Given the description of an element on the screen output the (x, y) to click on. 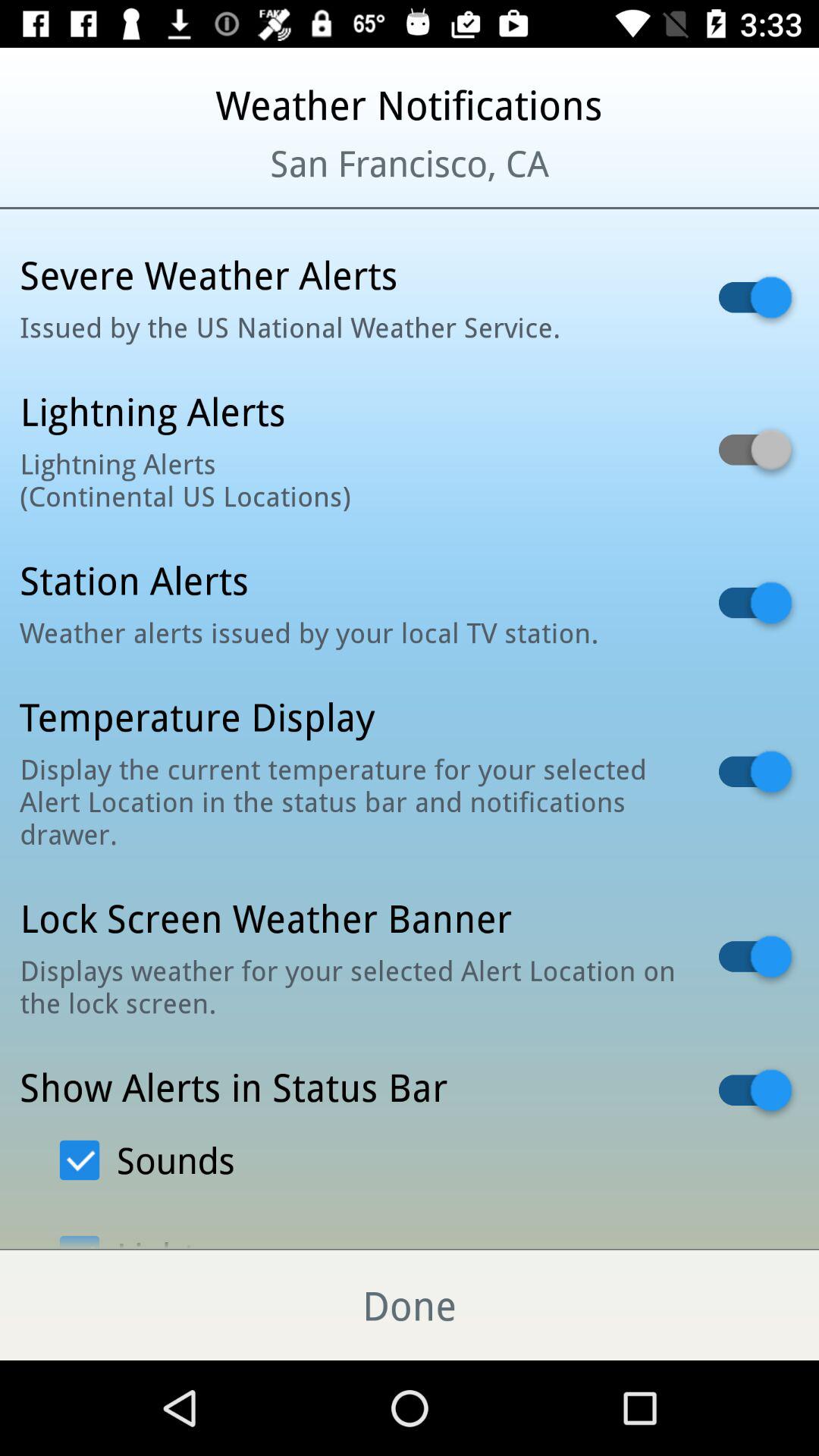
choose item above lock screen weather icon (349, 801)
